Given the description of an element on the screen output the (x, y) to click on. 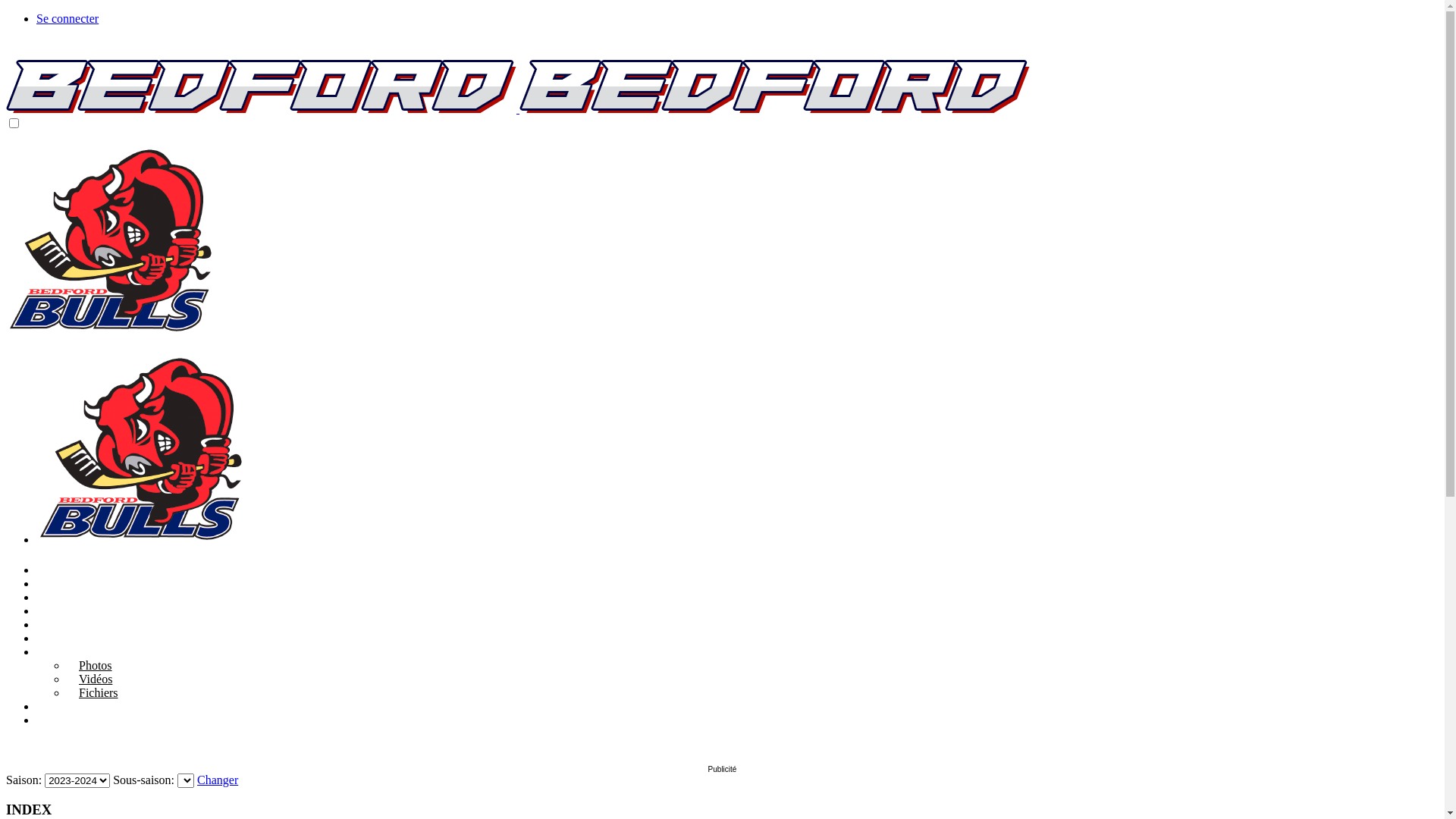
Plus Element type: text (46, 719)
Photos Element type: text (89, 664)
Fichiers Element type: text (92, 692)
Tournoi Junior Allan Arless Element type: text (103, 610)
Calendrier Element type: text (61, 596)
Se connecter Element type: text (67, 18)
Accueil Element type: text (55, 569)
HORAIRES Element type: text (1373, 752)
Changer Element type: text (217, 779)
Inscription Element type: text (62, 583)
Contact Element type: text (55, 705)
Tournoi Provincial Bantam Bedford Element type: text (123, 624)
